Given the description of an element on the screen output the (x, y) to click on. 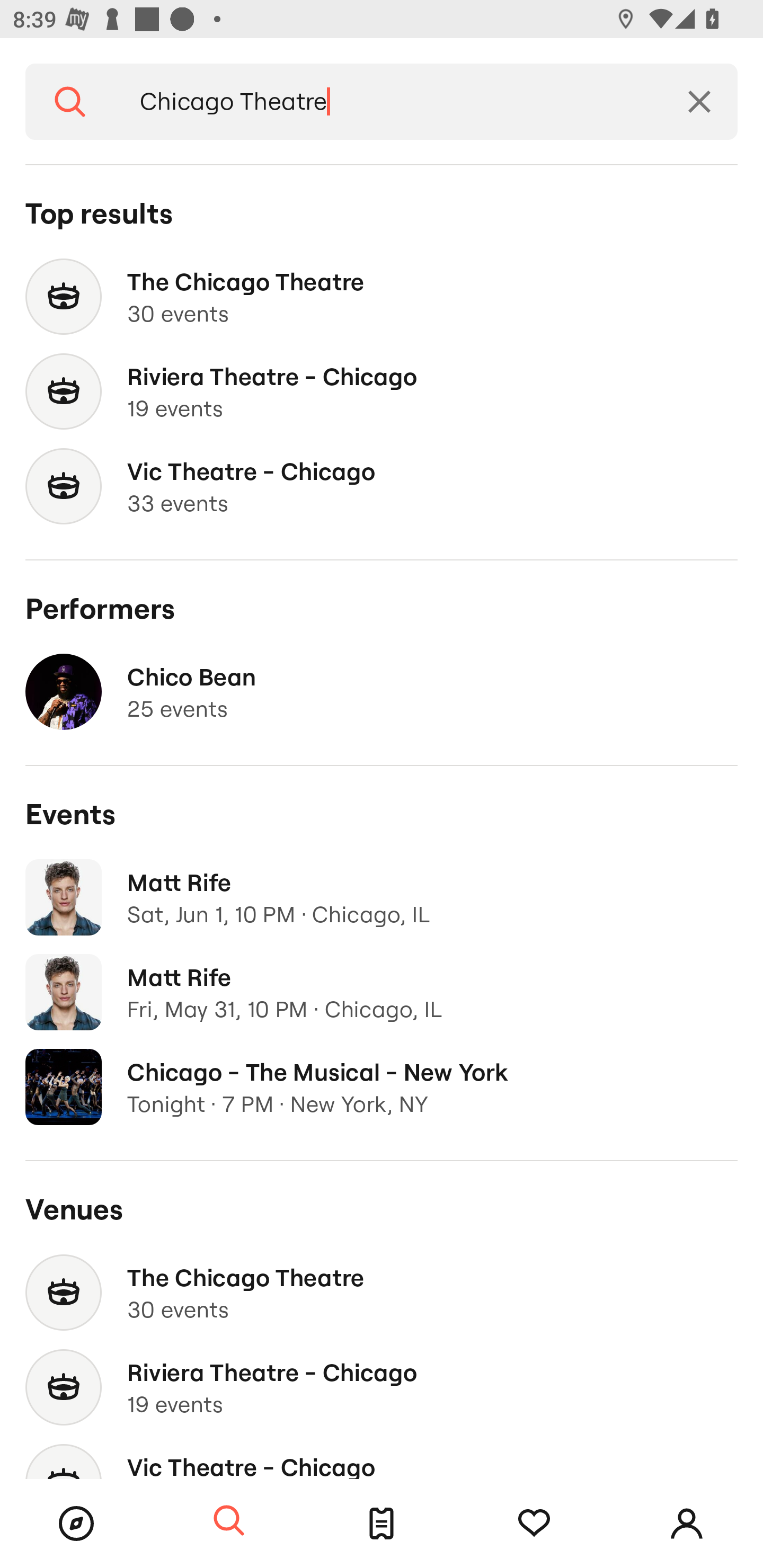
Search (69, 101)
Chicago Theatre (387, 101)
Clear (699, 101)
The Chicago Theatre 30 events (381, 296)
Riviera Theatre - Chicago 19 events (381, 391)
Vic Theatre - Chicago 33 events (381, 486)
Chico Bean 25 events (381, 692)
Matt Rife Sat, Jun 1, 10 PM · Chicago, IL (381, 897)
Matt Rife Fri, May 31, 10 PM · Chicago, IL (381, 992)
The Chicago Theatre 30 events (381, 1292)
Riviera Theatre - Chicago 19 events (381, 1387)
Browse (76, 1523)
Search (228, 1521)
Tickets (381, 1523)
Tracking (533, 1523)
Account (686, 1523)
